Given the description of an element on the screen output the (x, y) to click on. 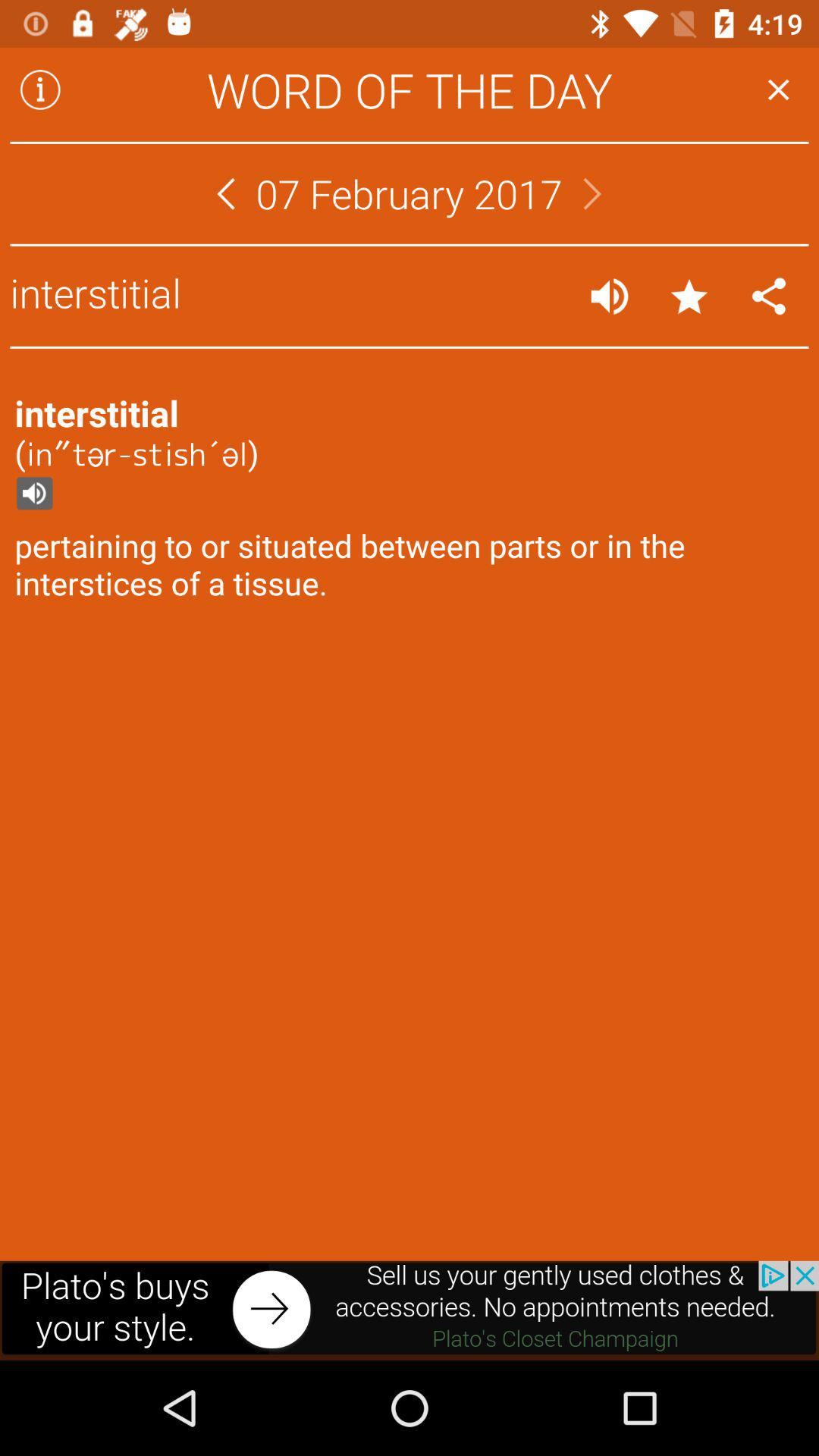
share (768, 296)
